Given the description of an element on the screen output the (x, y) to click on. 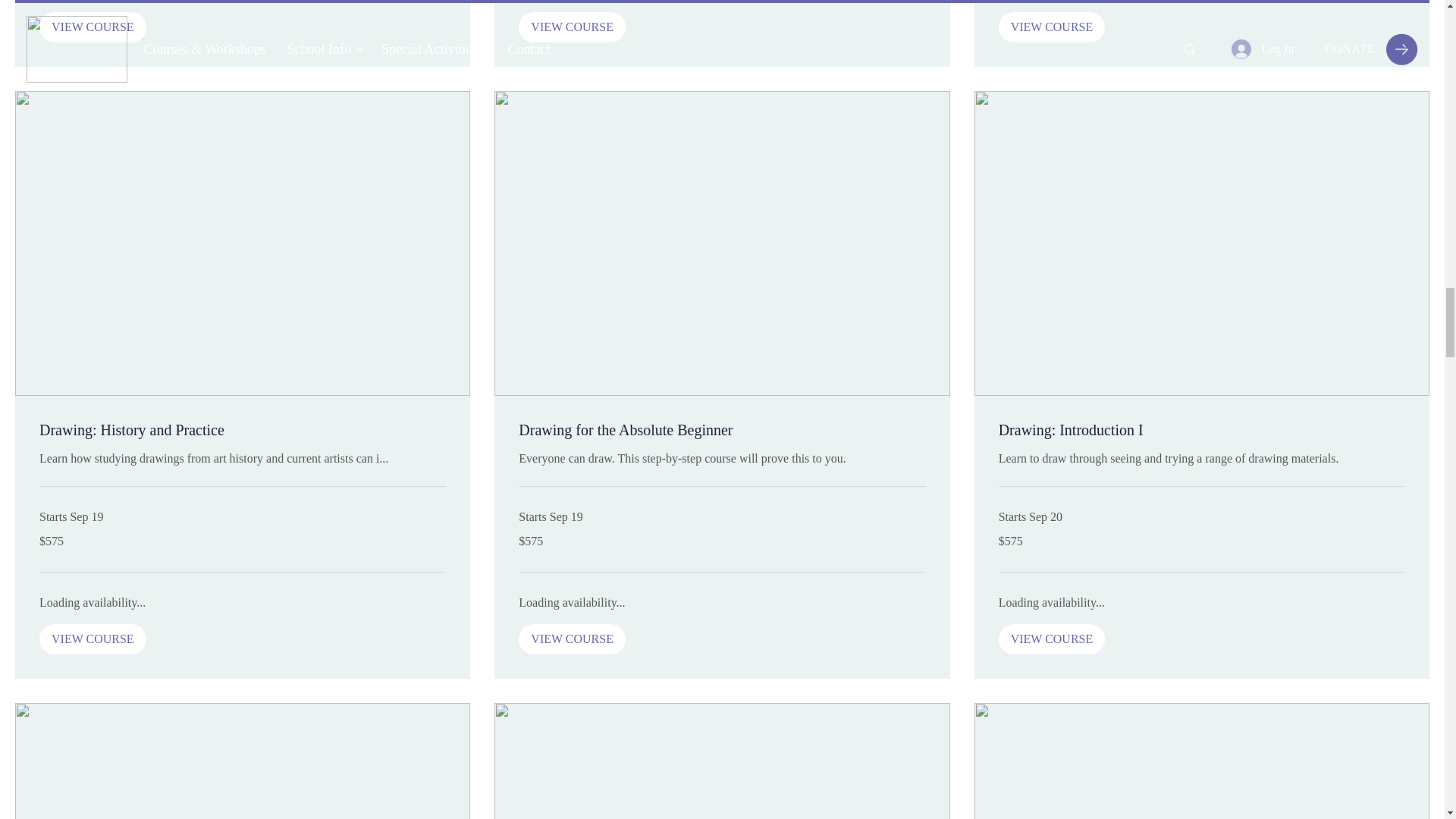
VIEW COURSE (93, 639)
Drawing: History and Practice (242, 430)
VIEW COURSE (572, 639)
Drawing: Introduction I (1201, 430)
Drawing for the Absolute Beginner (721, 430)
VIEW COURSE (93, 27)
VIEW COURSE (1051, 27)
VIEW COURSE (572, 27)
